Given the description of an element on the screen output the (x, y) to click on. 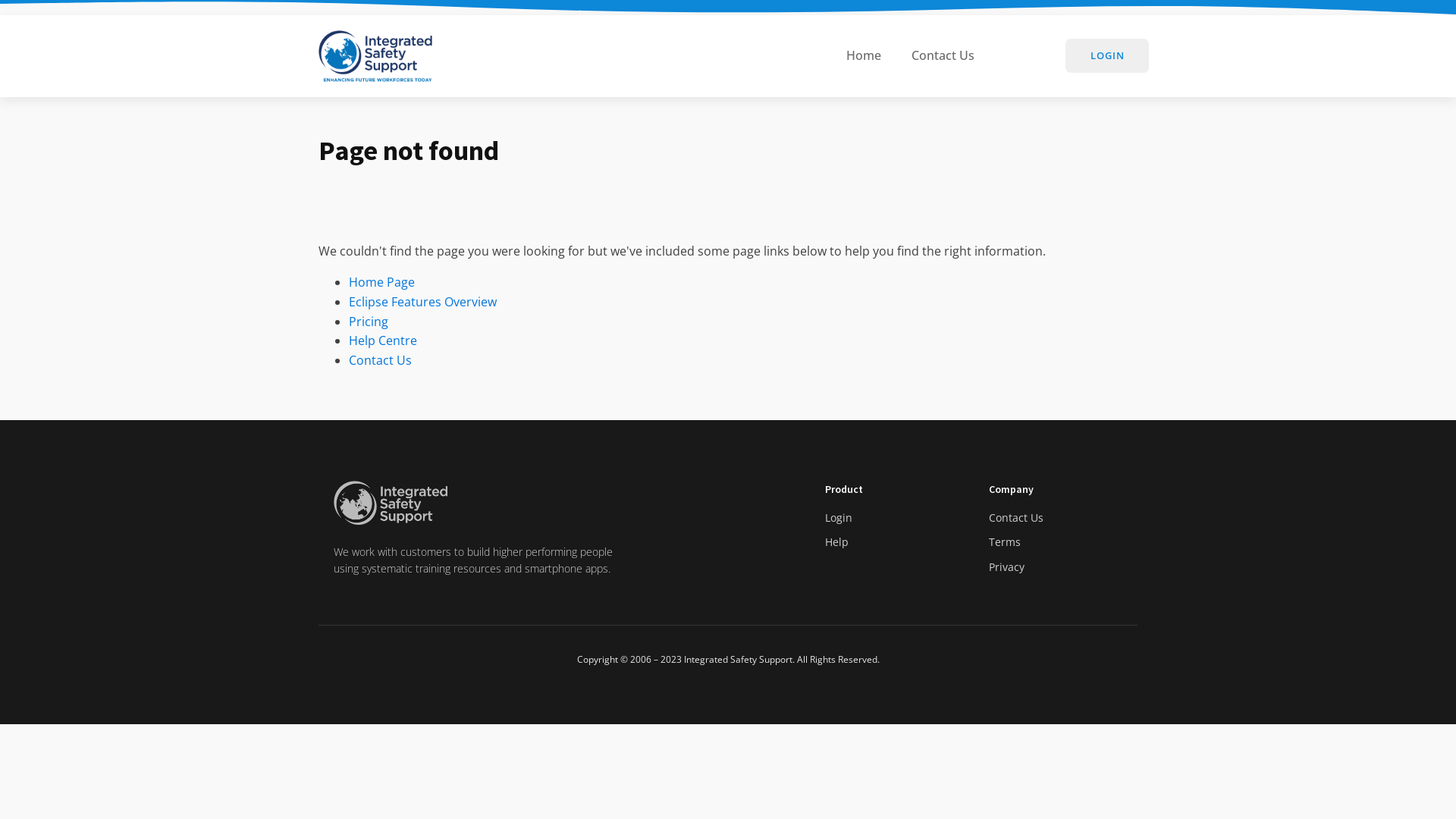
Help Centre Element type: text (382, 340)
Help Element type: text (836, 541)
Privacy Element type: text (1006, 566)
Home Page Element type: text (381, 281)
Contact Us Element type: text (1015, 517)
Terms Element type: text (1004, 541)
Eclipse Features Overview Element type: text (422, 301)
LOGIN Element type: text (1106, 55)
Contact Us Element type: text (379, 359)
Home Element type: text (863, 55)
Pricing Element type: text (368, 321)
Login Element type: text (838, 517)
Contact Us Element type: text (942, 55)
